Given the description of an element on the screen output the (x, y) to click on. 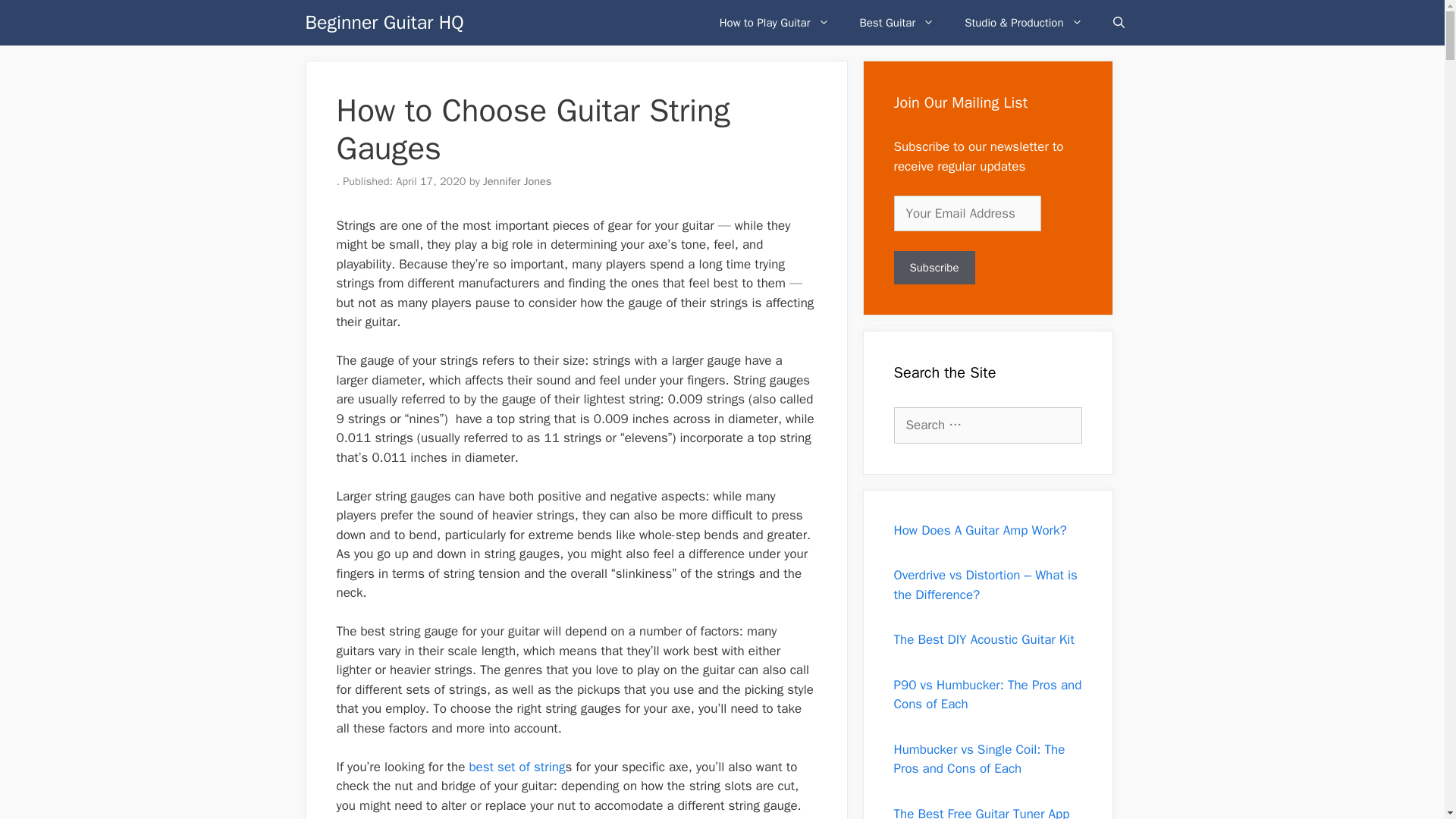
Jennifer Jones (517, 181)
Search for: (987, 425)
Subscribe (933, 267)
How to Play Guitar (774, 22)
Best Guitar (897, 22)
best set of string (514, 766)
Beginner Guitar HQ (383, 22)
View all posts by Jennifer Jones (517, 181)
